Given the description of an element on the screen output the (x, y) to click on. 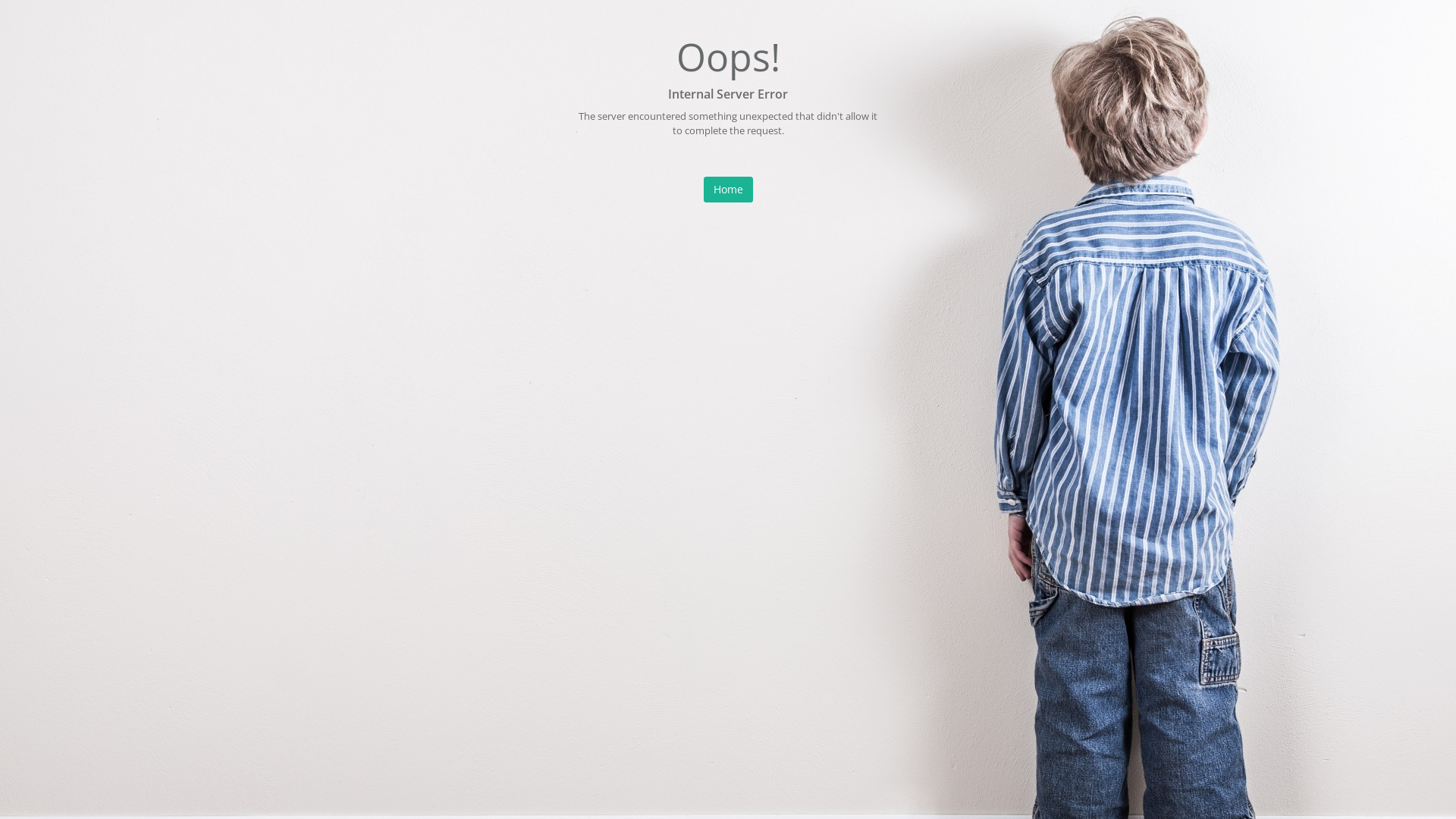
Home Element type: text (728, 189)
